Given the description of an element on the screen output the (x, y) to click on. 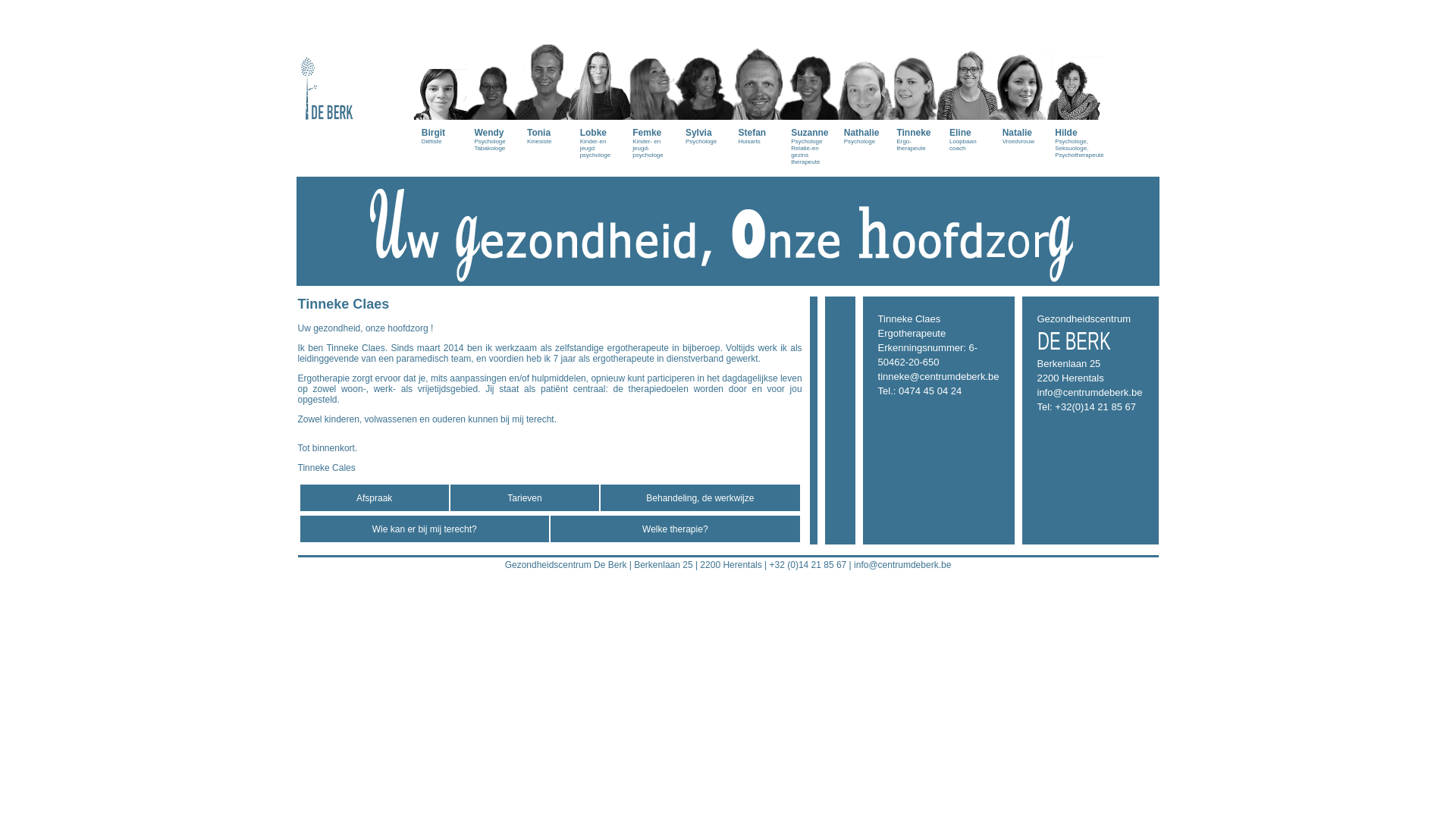
Wie kan er bij mij terecht? Element type: text (424, 528)
Sylvia
Psychologe Element type: text (704, 79)
Welke therapie? Element type: text (675, 528)
Suzanne
Psychologe Relatie-en gezins therapeute Element type: text (809, 89)
Stefan
Huisarts Element type: text (757, 79)
Nathalie
Psychologe Element type: text (862, 79)
Tel: +32(0)14 21 85 67 Element type: text (1086, 406)
Femke
Kinder- en jeugd-psychologe Element type: text (650, 86)
Wendy
Psychologe
Tabakologe Element type: text (492, 82)
Eline
Loopbaan coach Element type: text (967, 82)
tinneke@centrumdeberk.be Element type: text (938, 376)
Natalie
Vroedvrouw Element type: text (1021, 79)
Tarieven Element type: text (524, 497)
Tel.: 0474 45 04 24 Element type: text (920, 390)
Hilde
Psychologe, Seksuologe, Psychotherapeute Element type: text (1073, 86)
Afspraak Element type: text (374, 497)
Tonia
Kinesiste Element type: text (545, 79)
Tinneke
Ergo-therapeute Element type: text (914, 82)
info@centrumdeberk.be Element type: text (1089, 392)
Behandeling, de werkwijze Element type: text (699, 497)
Lobke
Kinder-en jeugd psychologe Element type: text (598, 86)
